Given the description of an element on the screen output the (x, y) to click on. 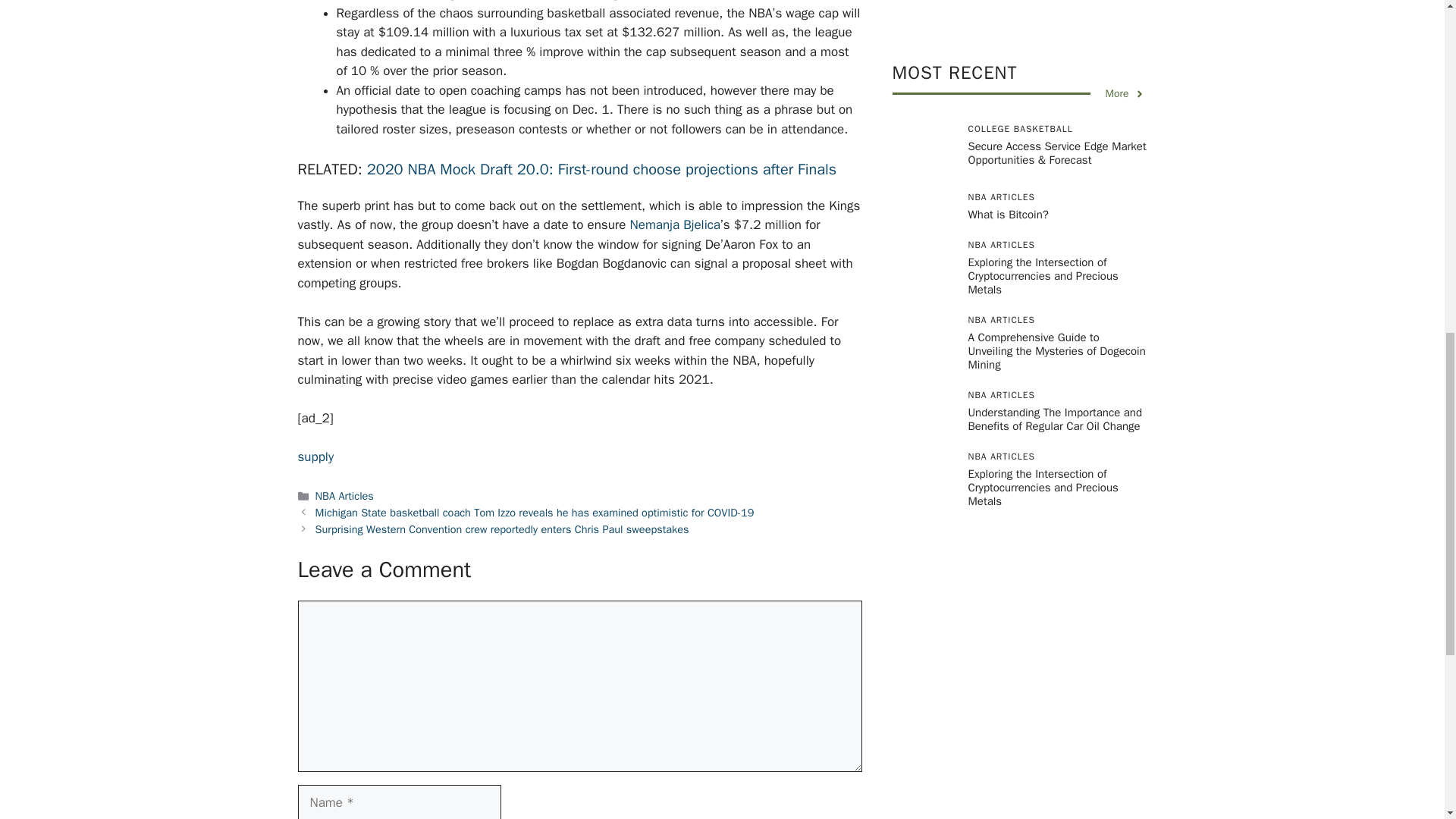
supply (315, 456)
Nemanja Bjelica (675, 224)
NBA Articles (344, 495)
